Given the description of an element on the screen output the (x, y) to click on. 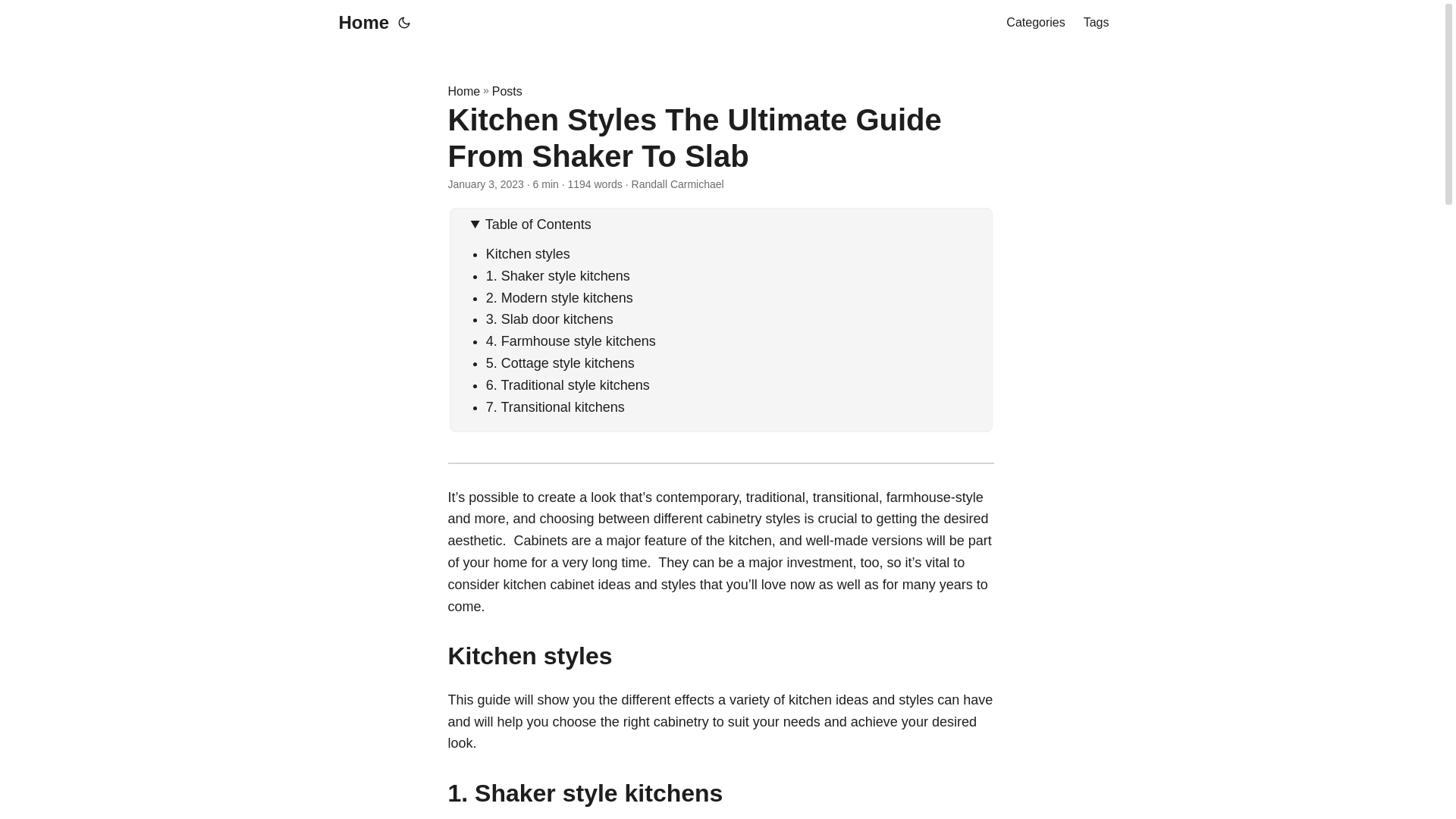
Categories (1035, 22)
6. Traditional style kitchens (567, 385)
2. Modern style kitchens (559, 297)
Kitchen styles (528, 253)
Posts (507, 91)
Home (359, 22)
3. Slab door kitchens (549, 319)
7. Transitional kitchens (555, 406)
Home (463, 91)
4. Farmhouse style kitchens (571, 340)
5. Cottage style kitchens (560, 363)
1. Shaker style kitchens (558, 275)
Categories (1035, 22)
